Given the description of an element on the screen output the (x, y) to click on. 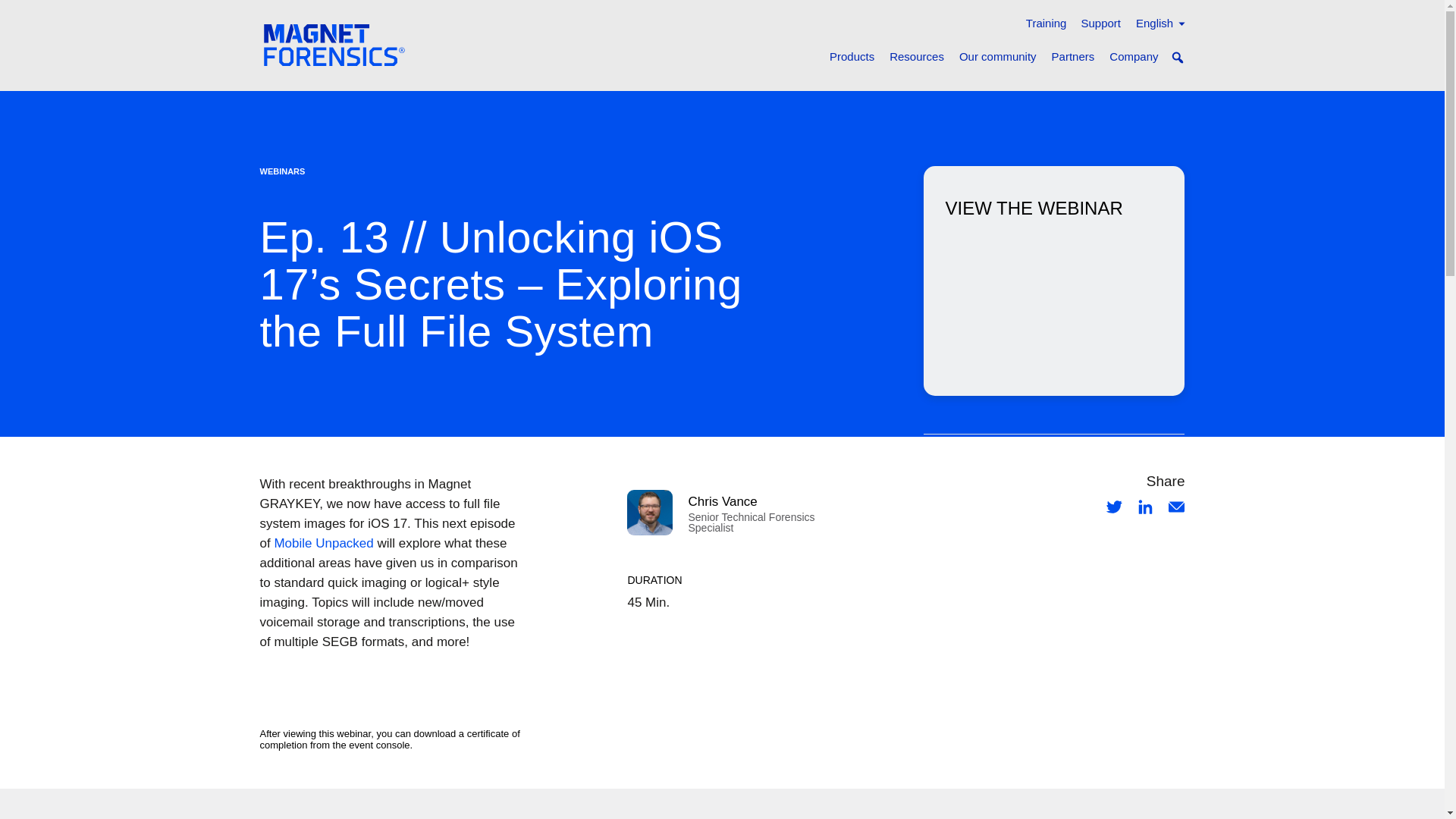
English (1159, 23)
Access the Webinars (1054, 303)
English (1159, 23)
Training (1045, 23)
Support (1100, 23)
